Given the description of an element on the screen output the (x, y) to click on. 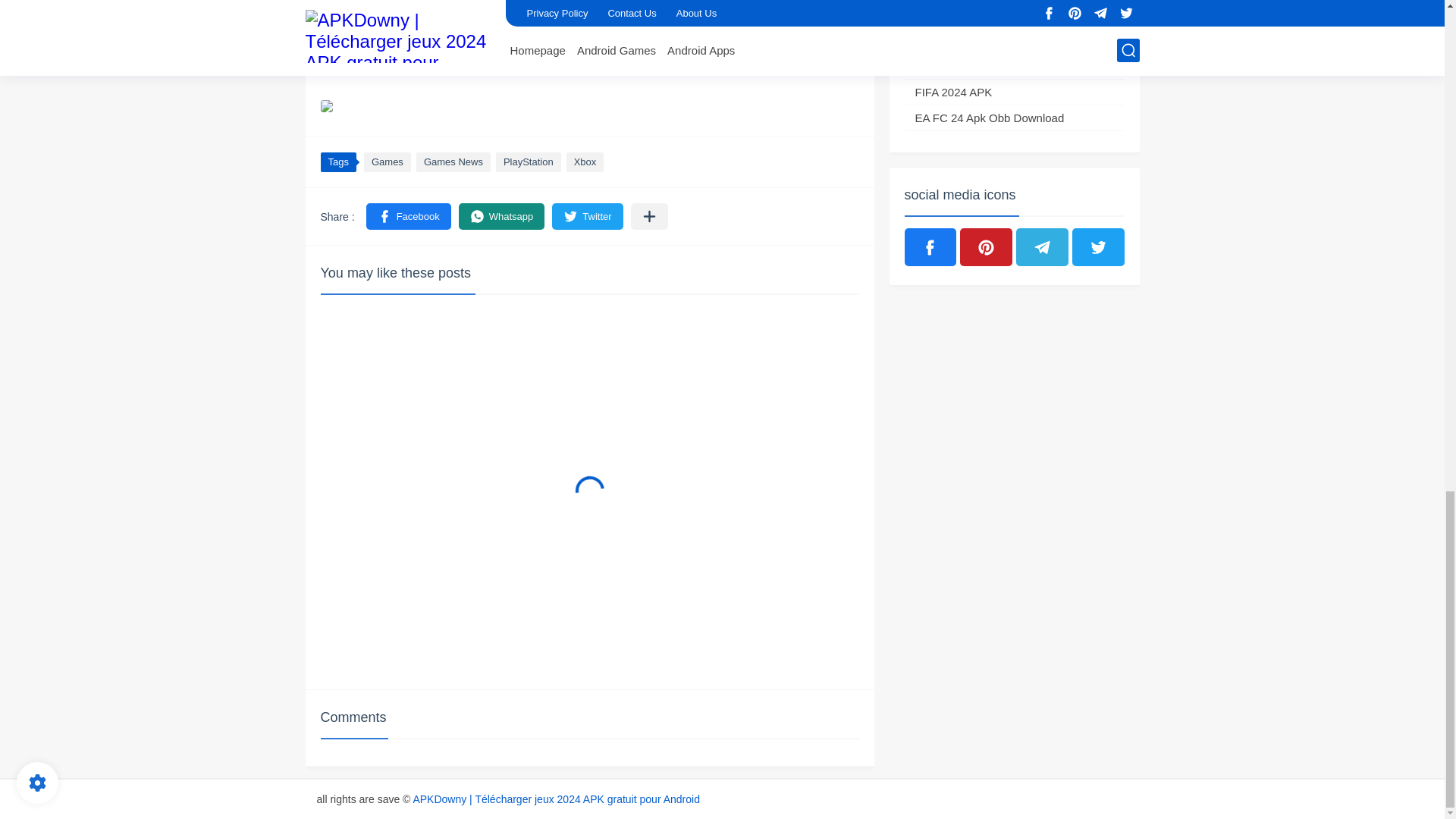
Xbox (585, 161)
Games (387, 161)
Games News (453, 161)
PlayStation (528, 161)
